Given the description of an element on the screen output the (x, y) to click on. 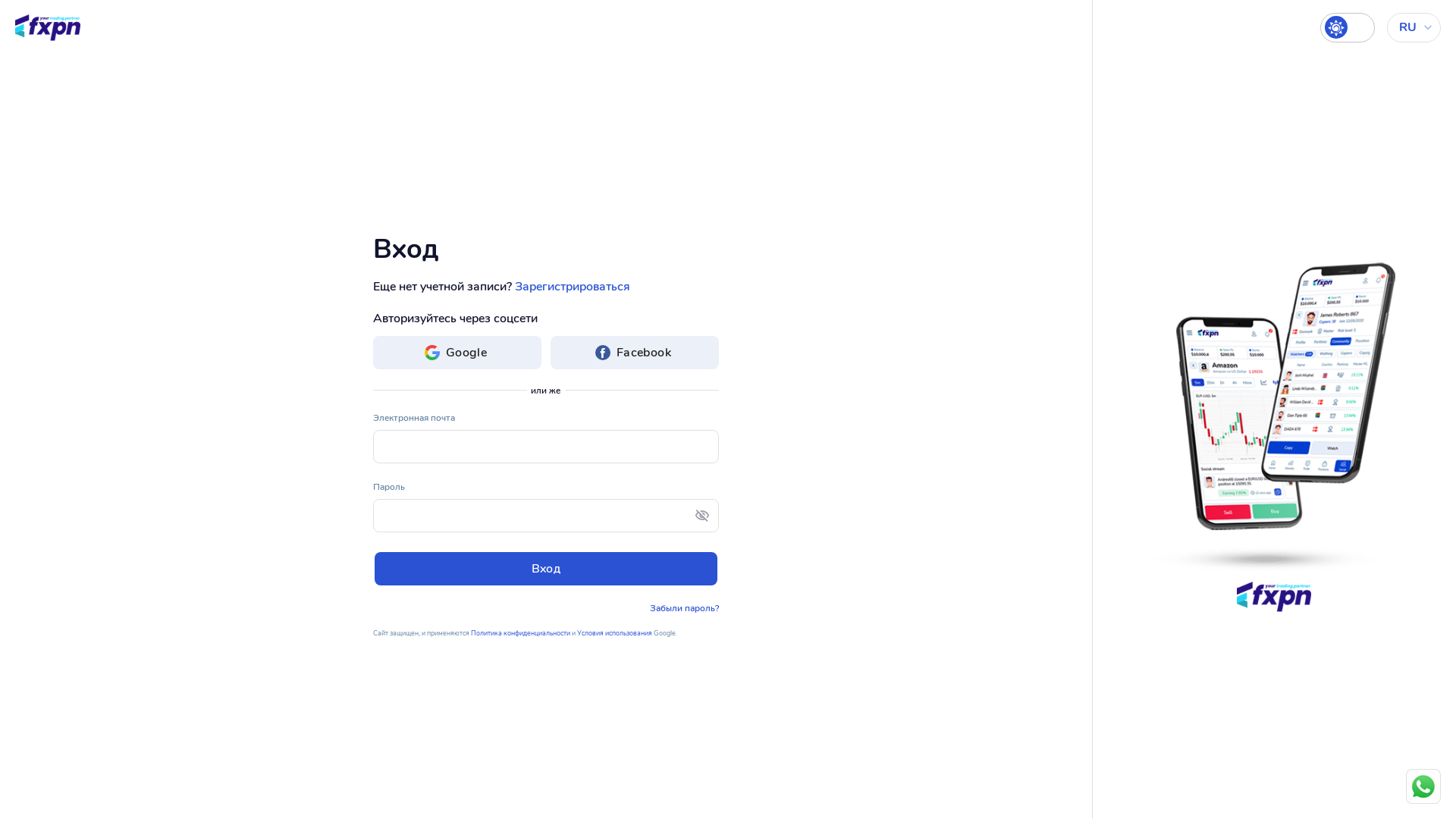
Facebook Element type: text (634, 352)
Google Element type: text (457, 352)
